Given the description of an element on the screen output the (x, y) to click on. 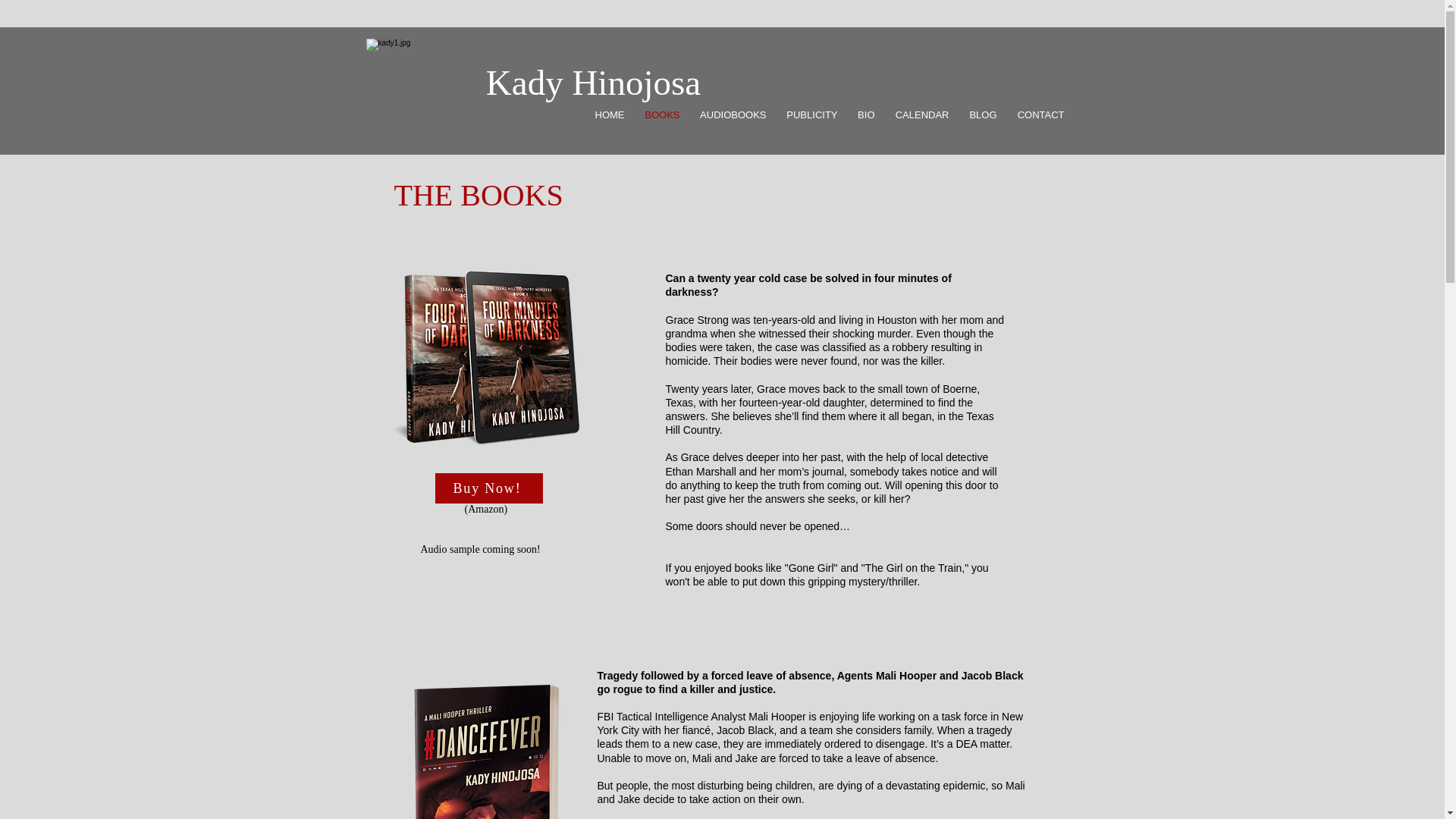
CALENDAR (919, 115)
Buy Now! (489, 488)
BOOKS (659, 115)
BLOG (980, 115)
PUBLICITY (809, 115)
BIO (864, 115)
AUDIOBOOKS (731, 115)
HOME (606, 115)
CONTACT (1039, 115)
